Given the description of an element on the screen output the (x, y) to click on. 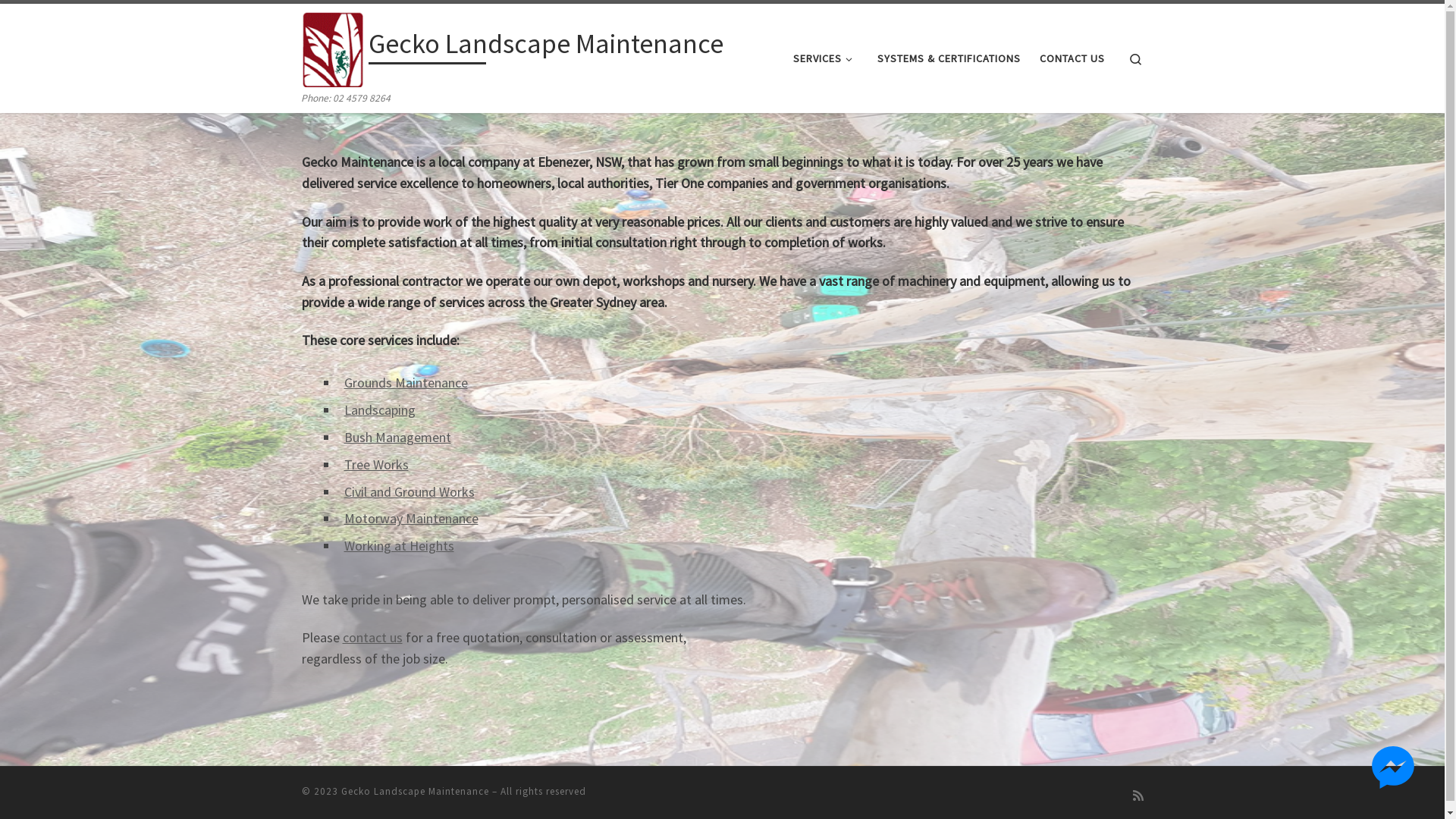
SYSTEMS & CERTIFICATIONS Element type: text (948, 58)
Search Element type: text (1135, 57)
Subscribe to my rss feed Element type: hover (1137, 795)
Bush Management Element type: text (397, 436)
Gecko Landscape Maintenance Element type: text (545, 47)
Skip to content Element type: text (57, 21)
Tree Works Element type: text (376, 464)
contact us Element type: text (372, 637)
Working at Heights Element type: text (399, 545)
Landscaping Element type: text (379, 409)
CONTACT US Element type: text (1071, 58)
Civil and Ground Works Element type: text (409, 491)
SERVICES Element type: text (825, 58)
Grounds Maintenance Element type: text (405, 382)
Motorway Maintenance Element type: text (411, 518)
Gecko Landscape Maintenance Element type: text (415, 790)
